Given the description of an element on the screen output the (x, y) to click on. 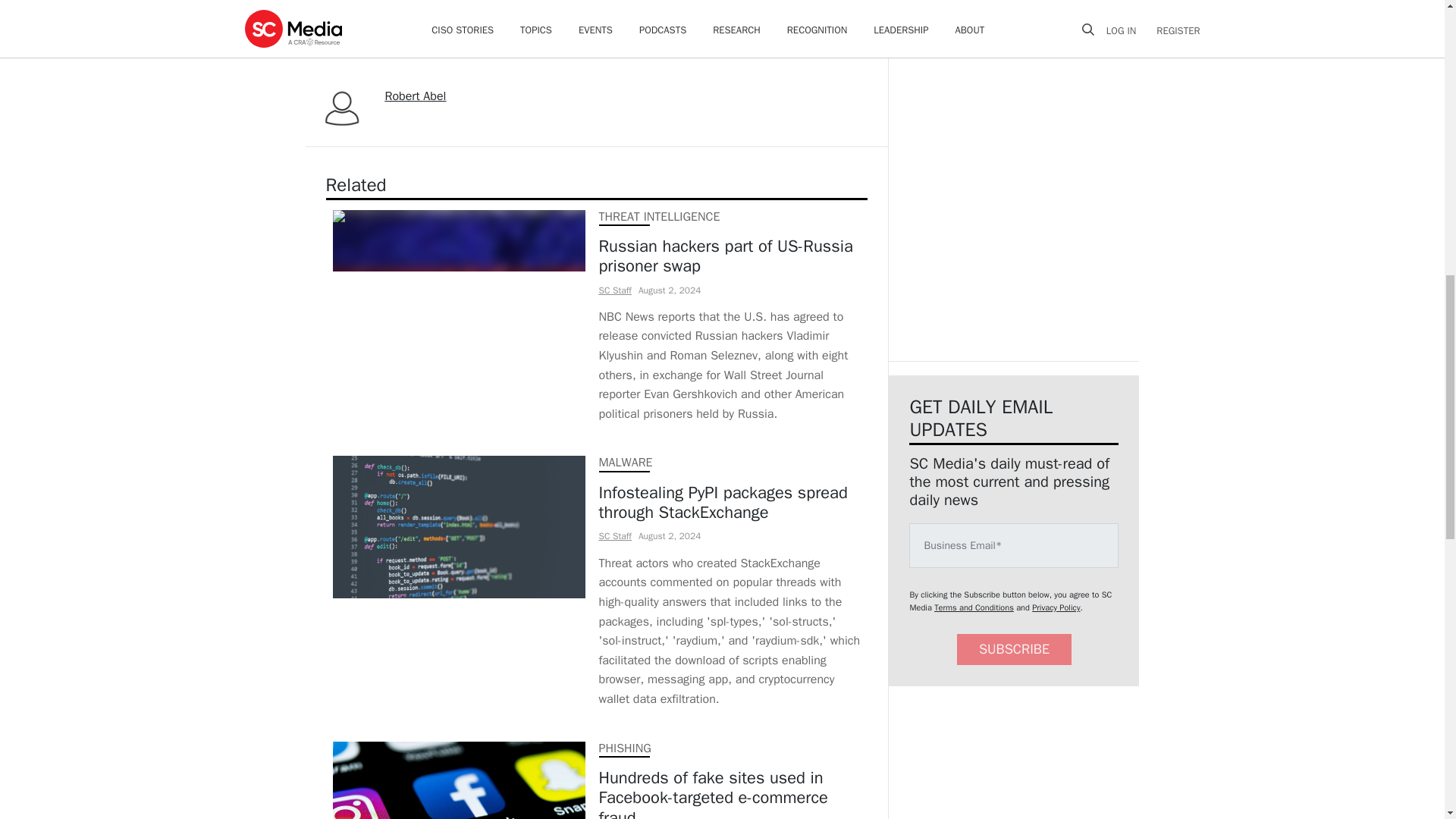
MALWARE (625, 462)
PHISHING (624, 748)
THREAT INTELLIGENCE (659, 216)
significant uptick (546, 21)
SC Staff (614, 289)
Terms and Conditions (973, 606)
SC Staff (614, 535)
Russian hackers part of US-Russia prisoner swap (729, 256)
Infostealing PyPI packages spread through StackExchange (729, 503)
SUBSCRIBE (1013, 649)
Robert Abel (415, 96)
Privacy Policy (1056, 606)
